Given the description of an element on the screen output the (x, y) to click on. 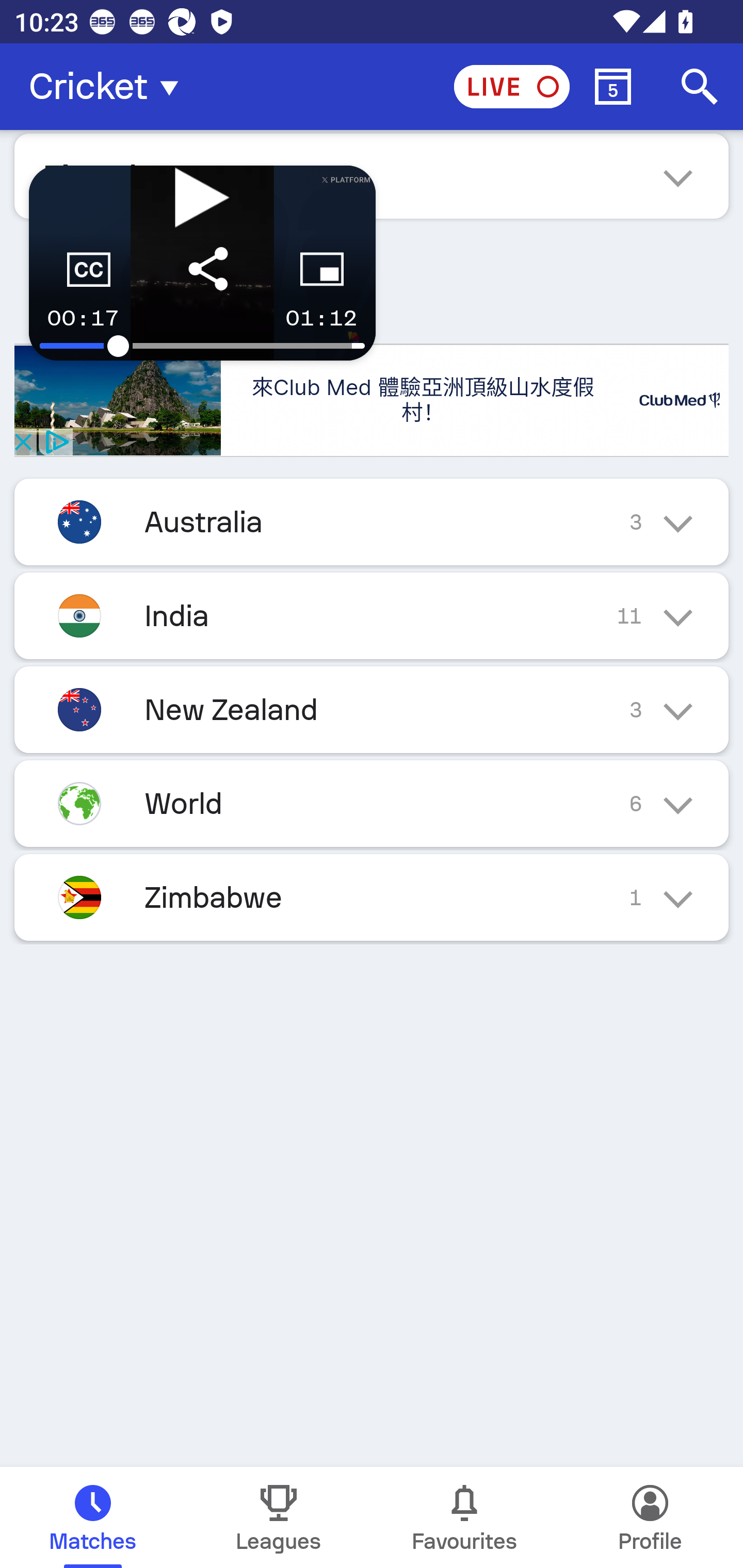
Cricket (109, 86)
Calendar (612, 86)
Search (699, 86)
close_button (21, 441)
privacy_small (54, 441)
Australia 3 (371, 522)
India 11 (371, 615)
New Zealand 3 (371, 709)
World 6 (371, 803)
Zimbabwe 1 (371, 897)
Leagues (278, 1517)
Favourites (464, 1517)
Profile (650, 1517)
